Given the description of an element on the screen output the (x, y) to click on. 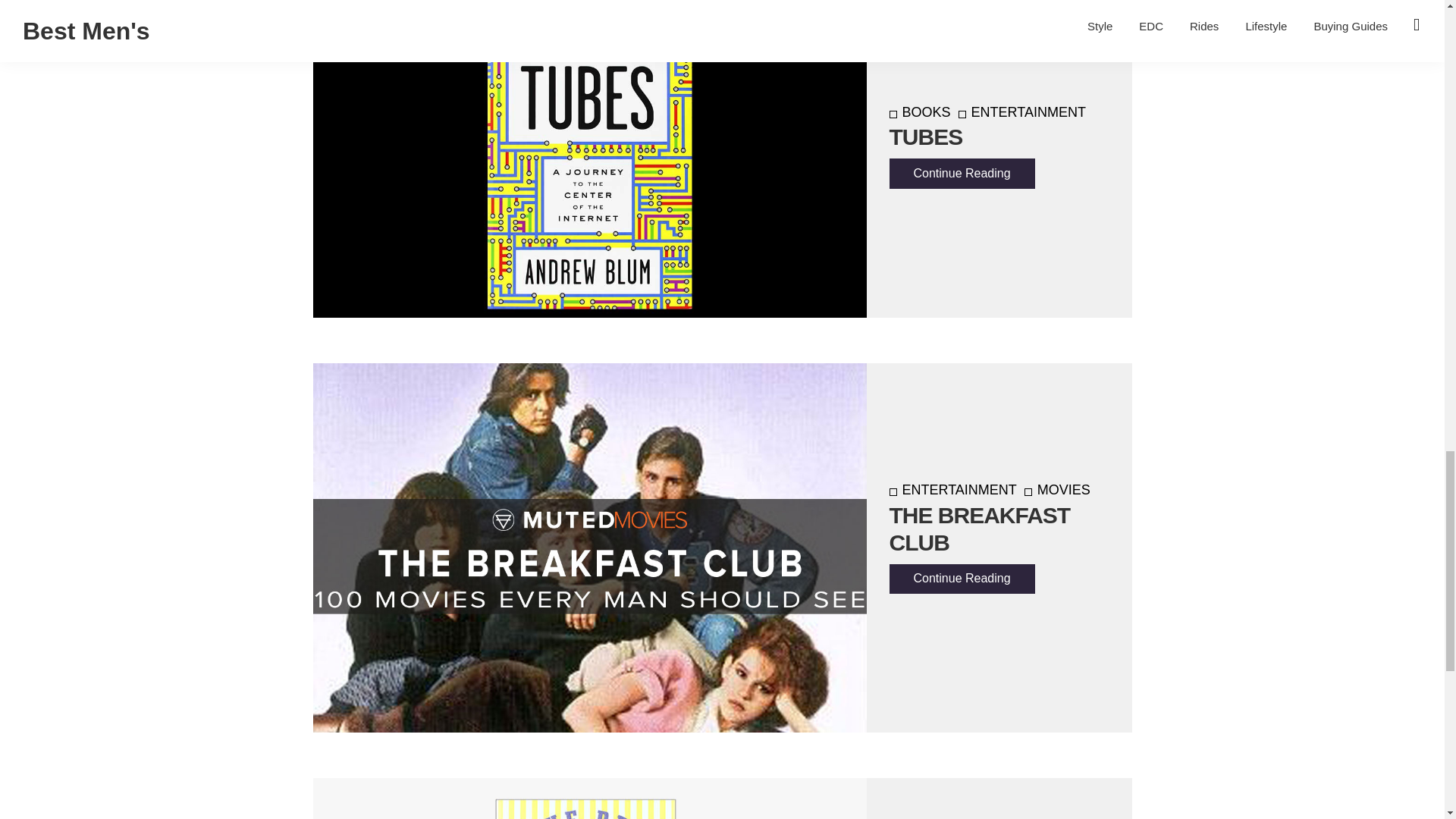
ENTERTAINMENT (952, 489)
Continue Reading (960, 173)
ENTERTAINMENT (1022, 111)
TUBES (925, 136)
MOVIES (1057, 489)
THE BREAKFAST CLUB (979, 528)
BOOKS (919, 111)
Continue Reading (960, 578)
